Given the description of an element on the screen output the (x, y) to click on. 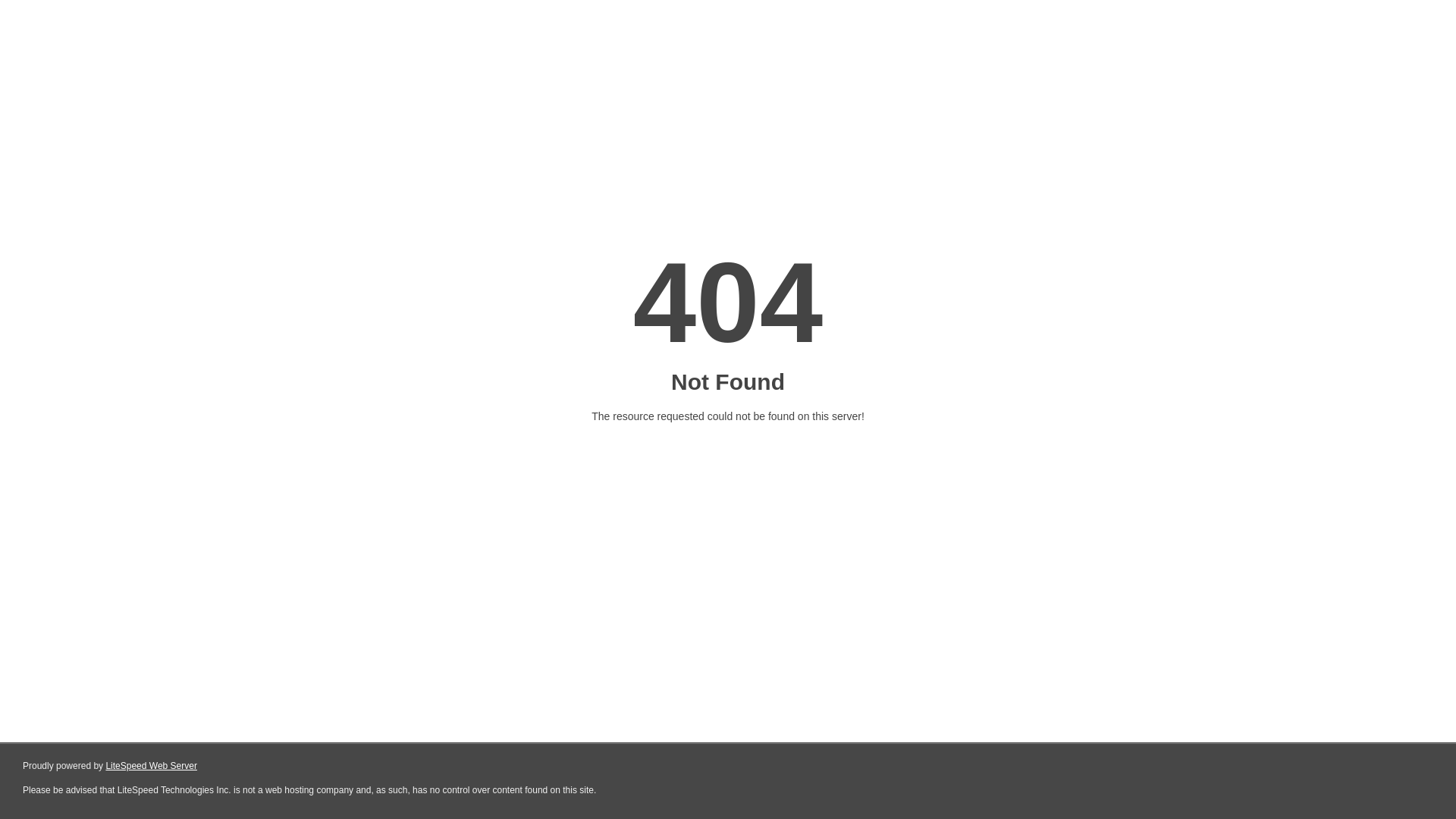
LiteSpeed Web Server Element type: text (151, 765)
